Given the description of an element on the screen output the (x, y) to click on. 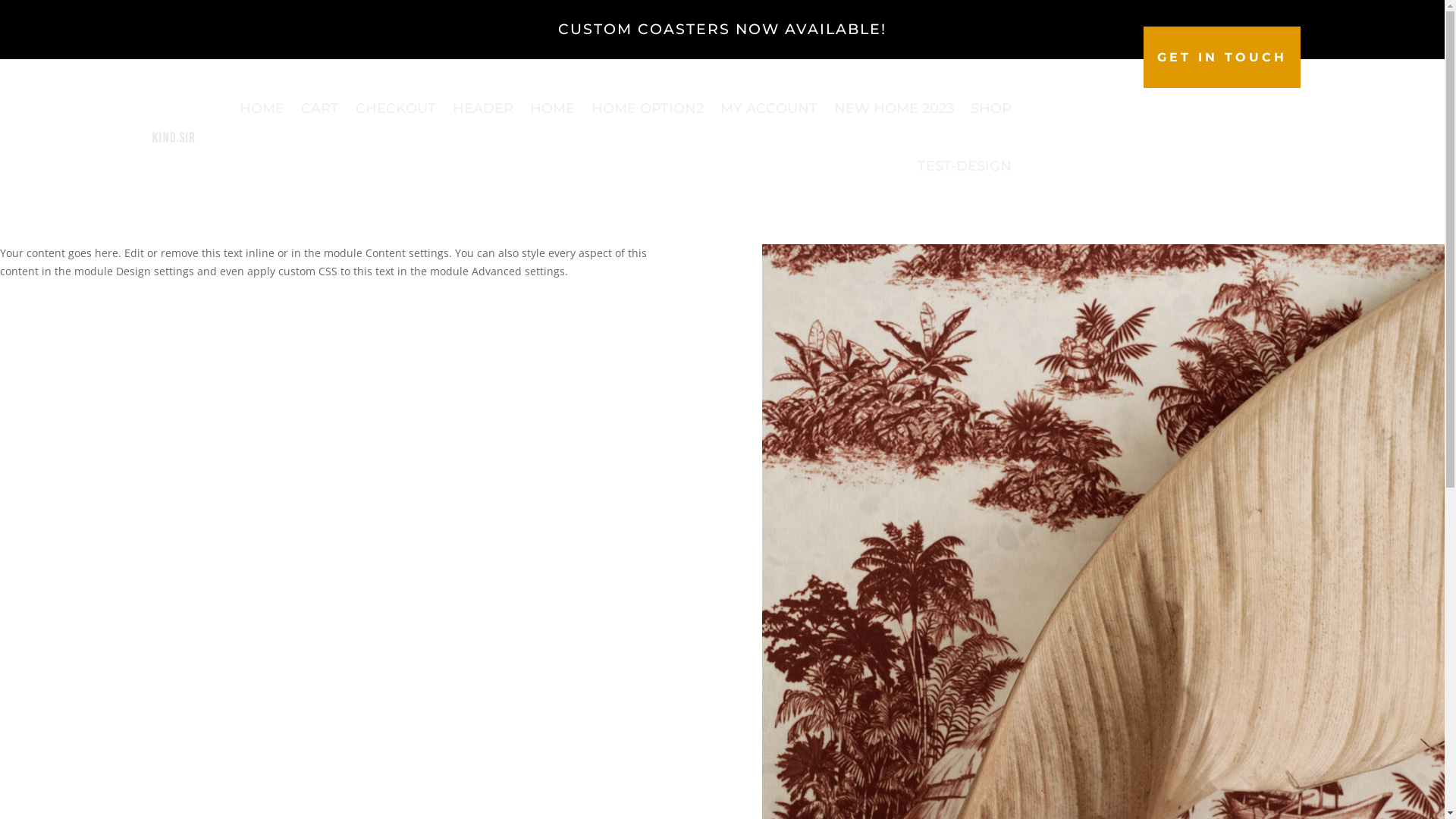
SHOP Element type: text (990, 108)
HEADER Element type: text (481, 108)
HOME OPTION2 Element type: text (647, 108)
GET IN TOUCH Element type: text (1221, 56)
MY ACCOUNT Element type: text (768, 108)
HOME Element type: text (261, 108)
CHECKOUT Element type: text (394, 108)
CART Element type: text (319, 108)
TEST-DESIGN Element type: text (964, 165)
HOME Element type: text (551, 108)
NEW HOME 2023 Element type: text (893, 108)
